Given the description of an element on the screen output the (x, y) to click on. 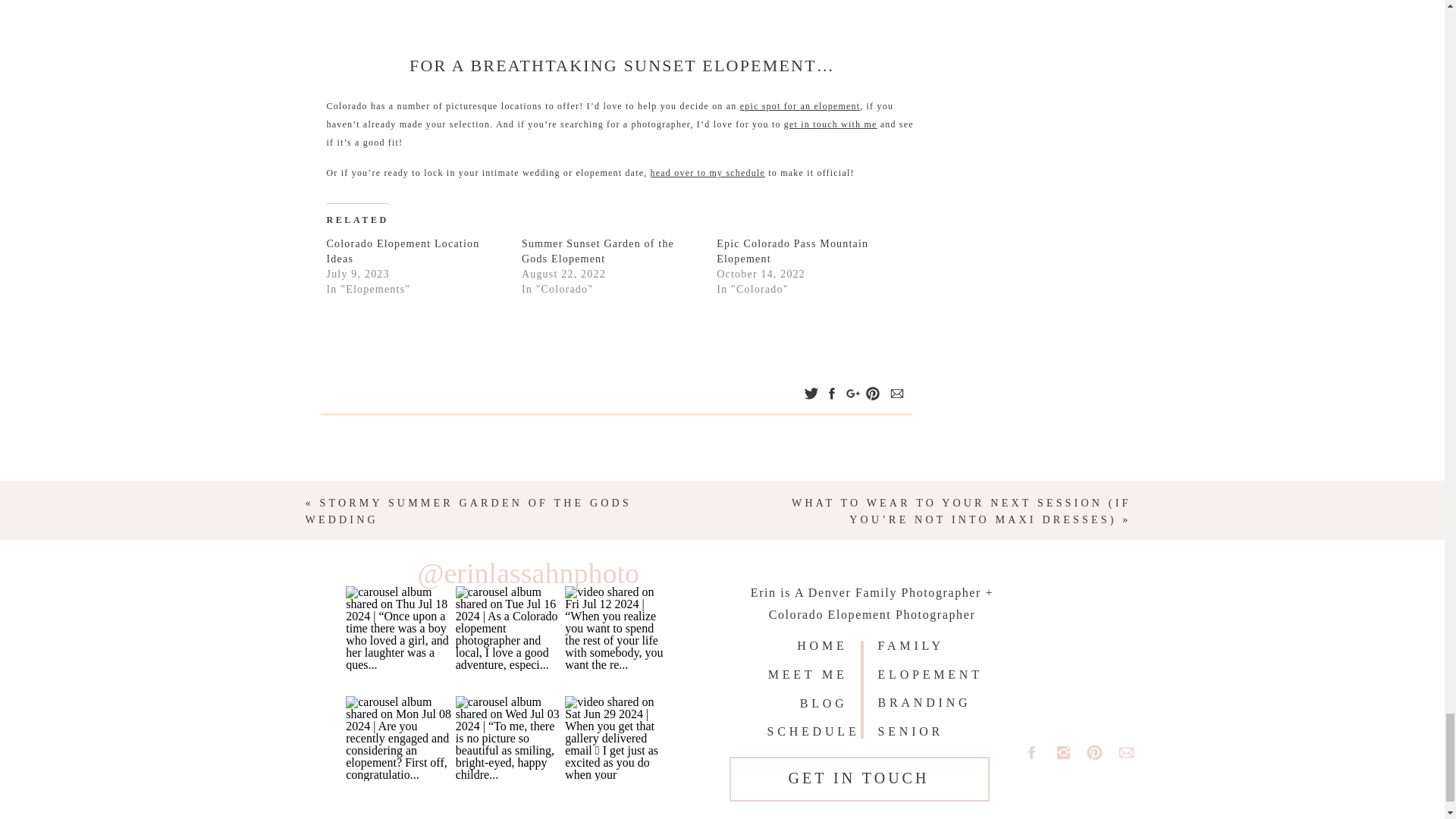
Epic Colorado Pass Mountain Elopement (791, 251)
get in touch with me (830, 123)
Summer Sunset Garden of the Gods Elopement (597, 251)
epic spot for an elopement (799, 105)
head over to my schedule (707, 172)
Colorado Elopement Location Ideas (402, 251)
